Given the description of an element on the screen output the (x, y) to click on. 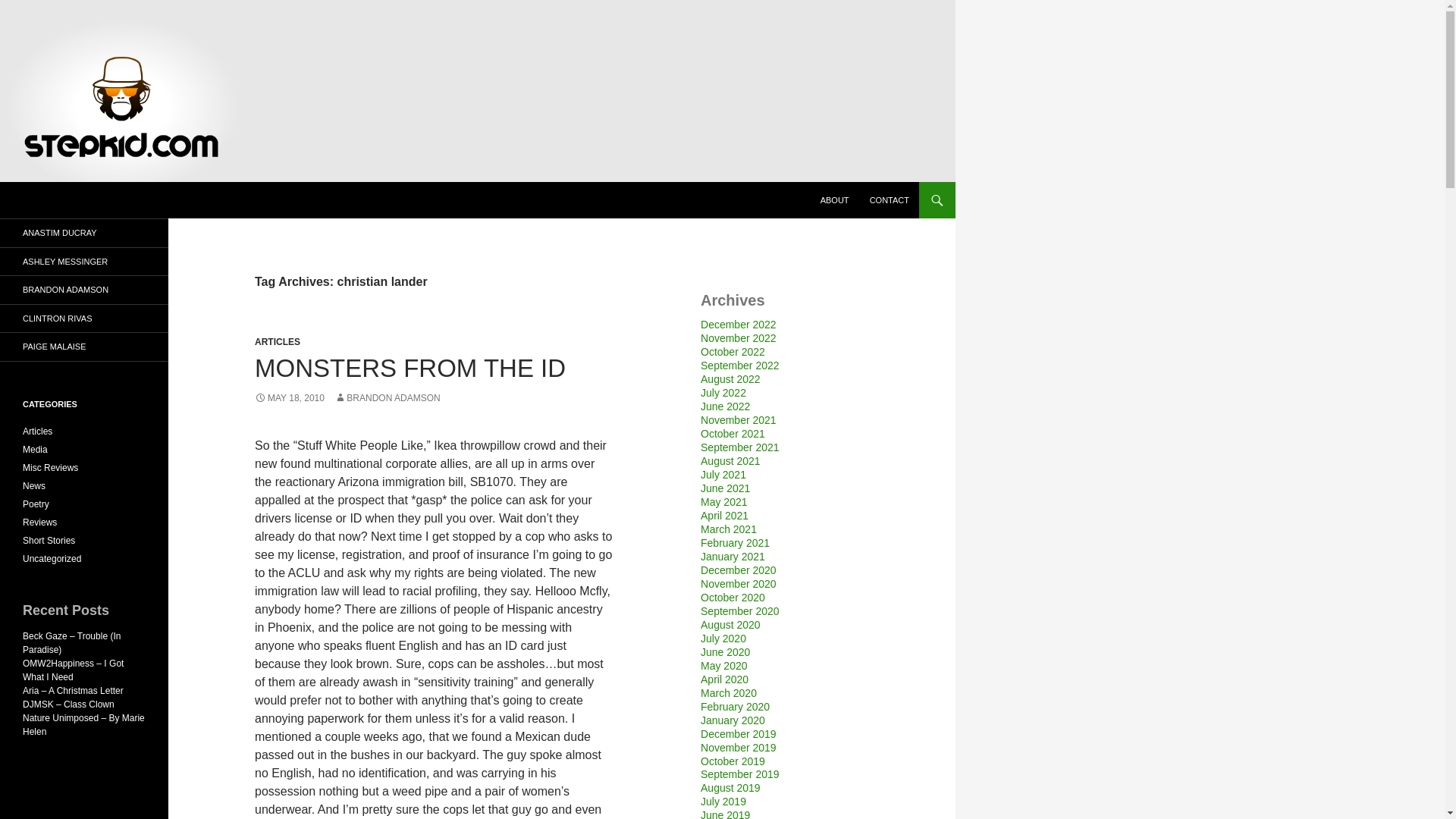
MAY 18, 2010 (289, 398)
MONSTERS FROM THE ID (410, 367)
BRANDON ADAMSON (386, 398)
November 2022 (738, 337)
September 2022 (739, 365)
October 2022 (732, 351)
August 2022 (730, 378)
December 2022 (738, 324)
June 2022 (724, 406)
October 2021 (732, 433)
November 2021 (738, 419)
CONTACT (889, 199)
ARTICLES (276, 341)
